Given the description of an element on the screen output the (x, y) to click on. 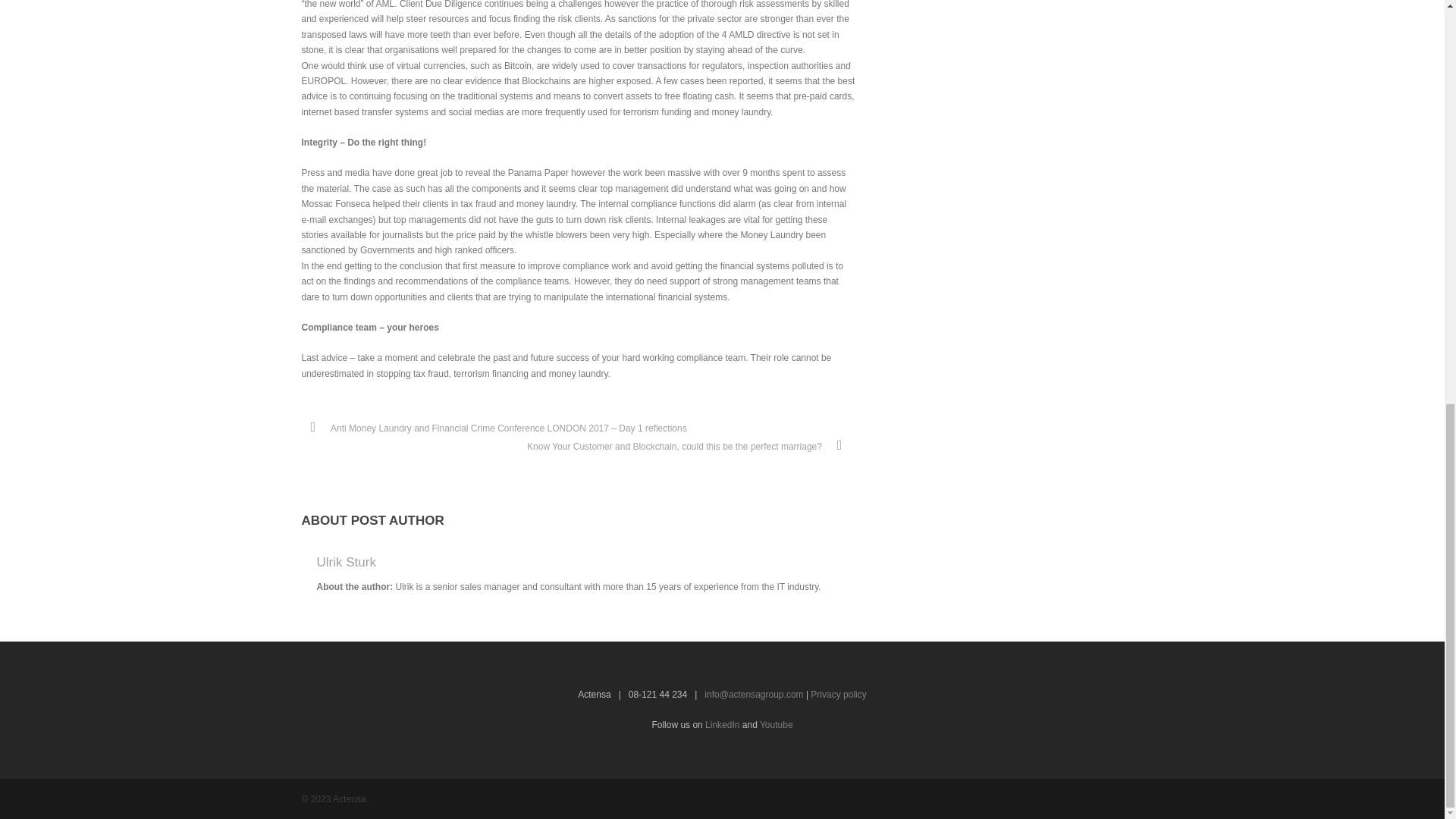
Posts by Ulrik Sturk (346, 562)
